Given the description of an element on the screen output the (x, y) to click on. 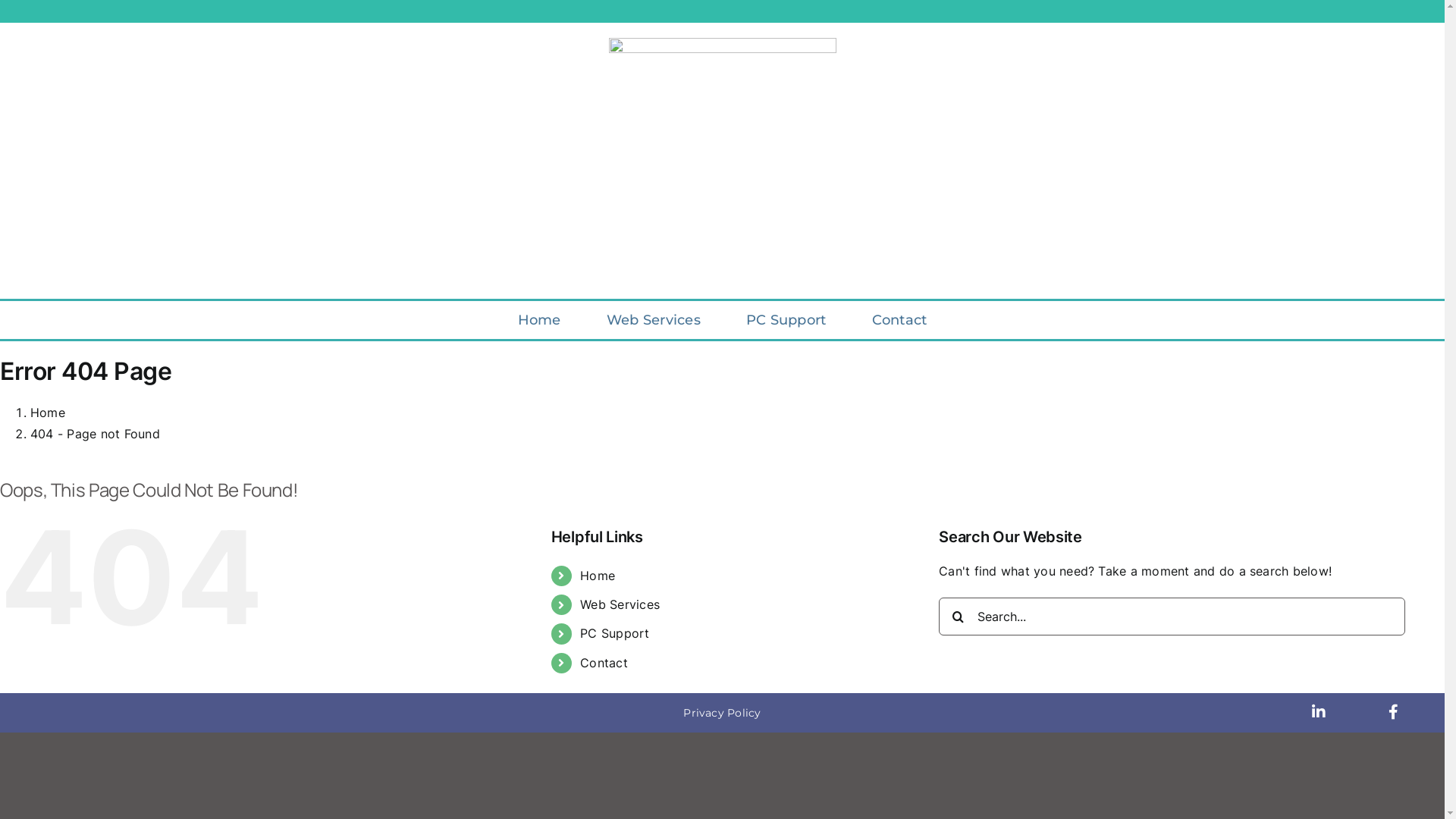
PC Support Element type: text (786, 320)
PC Support Element type: text (614, 632)
Web Services Element type: text (619, 603)
Contact Element type: text (603, 662)
Home Element type: text (539, 320)
Contact Element type: text (899, 320)
Privacy Policy Element type: text (721, 712)
Web Services Element type: text (653, 320)
Home Element type: text (47, 412)
Home Element type: text (597, 575)
Customer reviews powered by Trustpilot Element type: hover (722, 274)
